Given the description of an element on the screen output the (x, y) to click on. 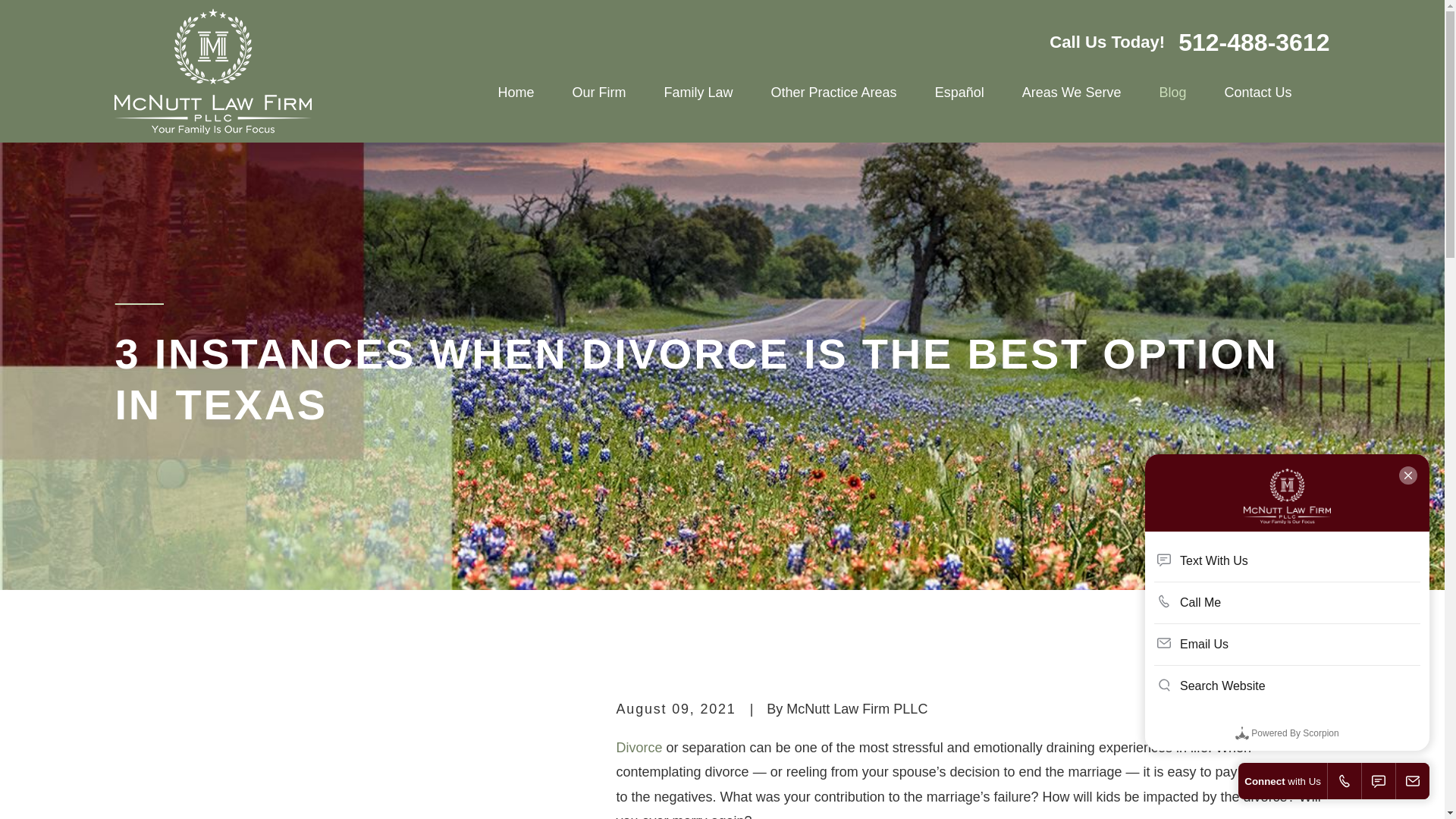
Our Firm (599, 92)
Home (213, 71)
Family Law (698, 92)
512-488-3612 (1253, 42)
McNutt Law Firm, PLLC (213, 71)
Other Practice Areas (833, 92)
Home (515, 92)
